Given the description of an element on the screen output the (x, y) to click on. 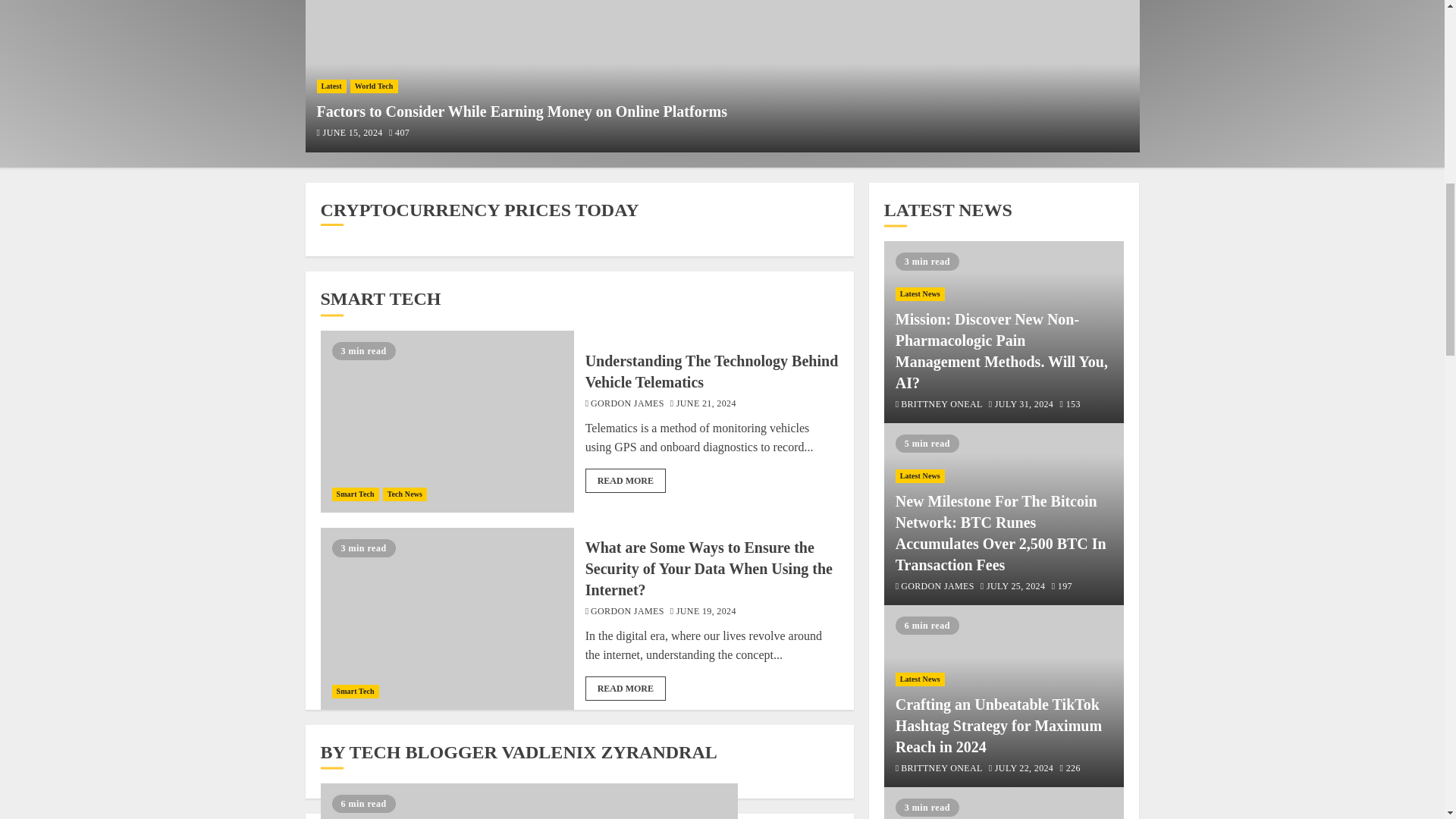
Factors to Consider While Earning Money on Online Platforms (721, 76)
Smart Tech (354, 691)
GORDON JAMES (627, 404)
READ MORE (625, 480)
Understanding The Technology Behind Vehicle Telematics (446, 421)
GORDON JAMES (627, 612)
